Given the description of an element on the screen output the (x, y) to click on. 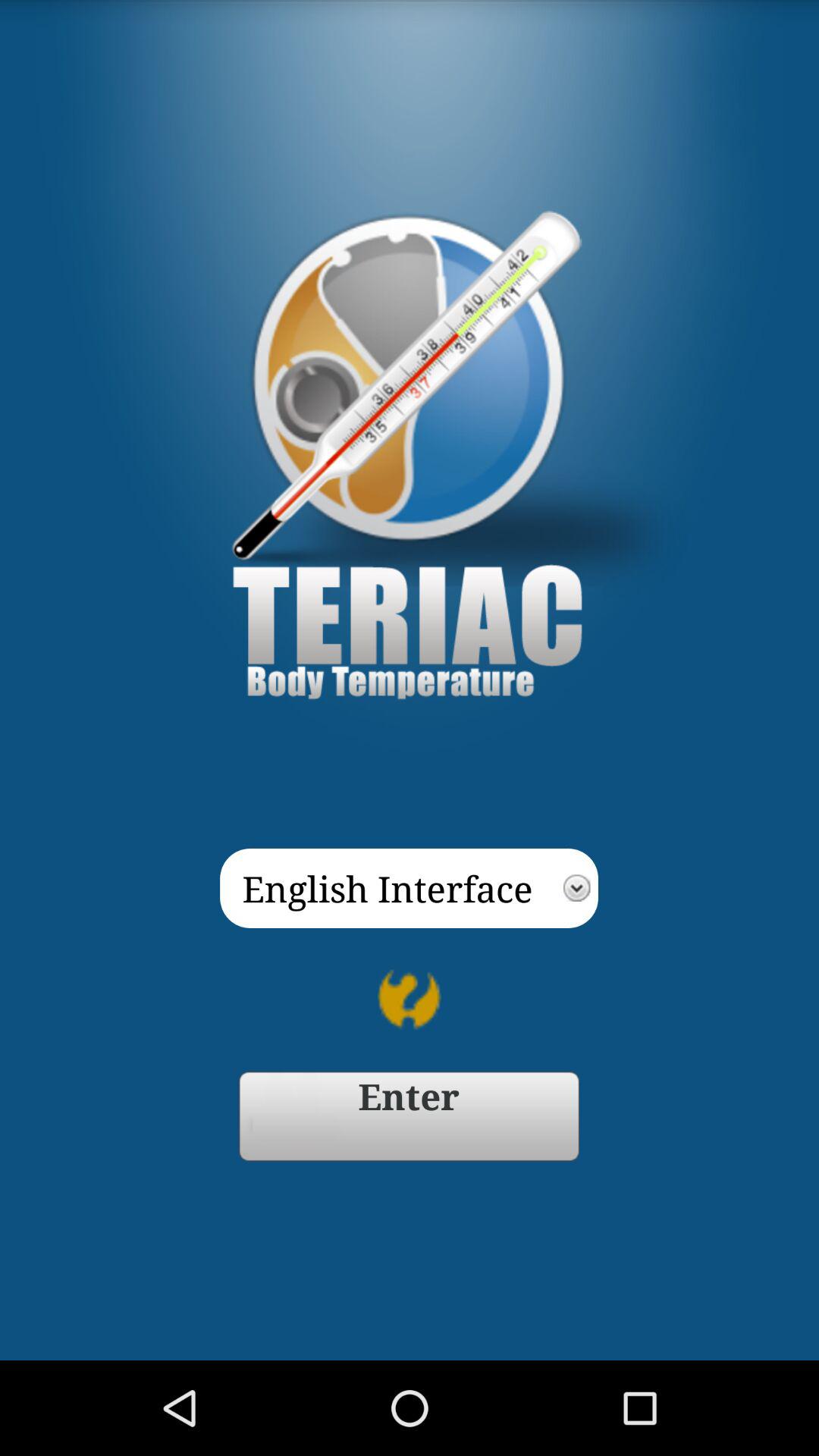
get started (408, 1116)
